Given the description of an element on the screen output the (x, y) to click on. 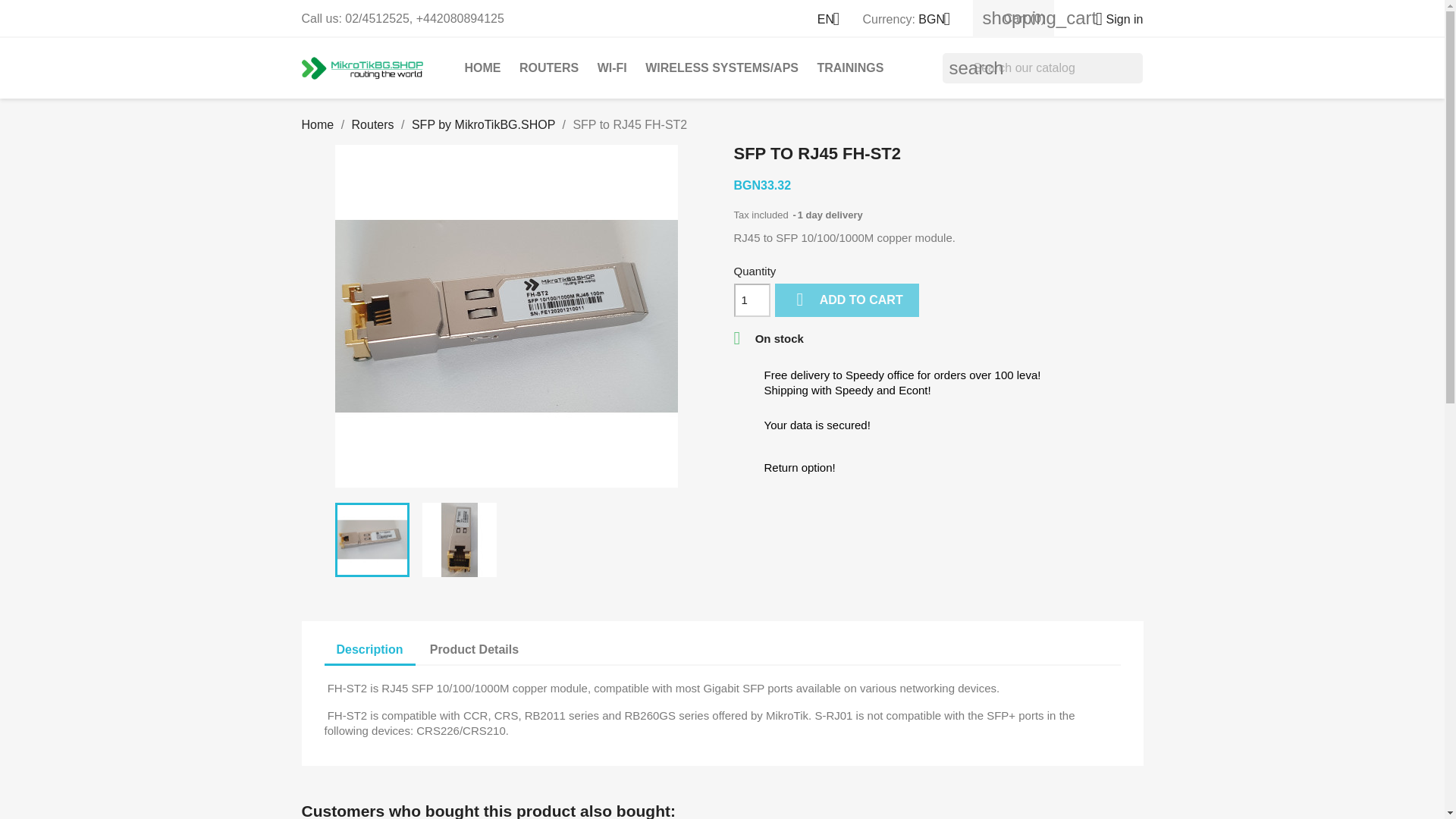
ROUTERS (549, 68)
WI-FI (611, 68)
TRAININGS (850, 68)
1 (751, 299)
Description (369, 650)
Log in to your customer account (1113, 19)
Product Details (474, 649)
SFP by MikroTikBG.SHOP (483, 124)
Routers (373, 124)
Home (317, 124)
HOME (482, 68)
